Given the description of an element on the screen output the (x, y) to click on. 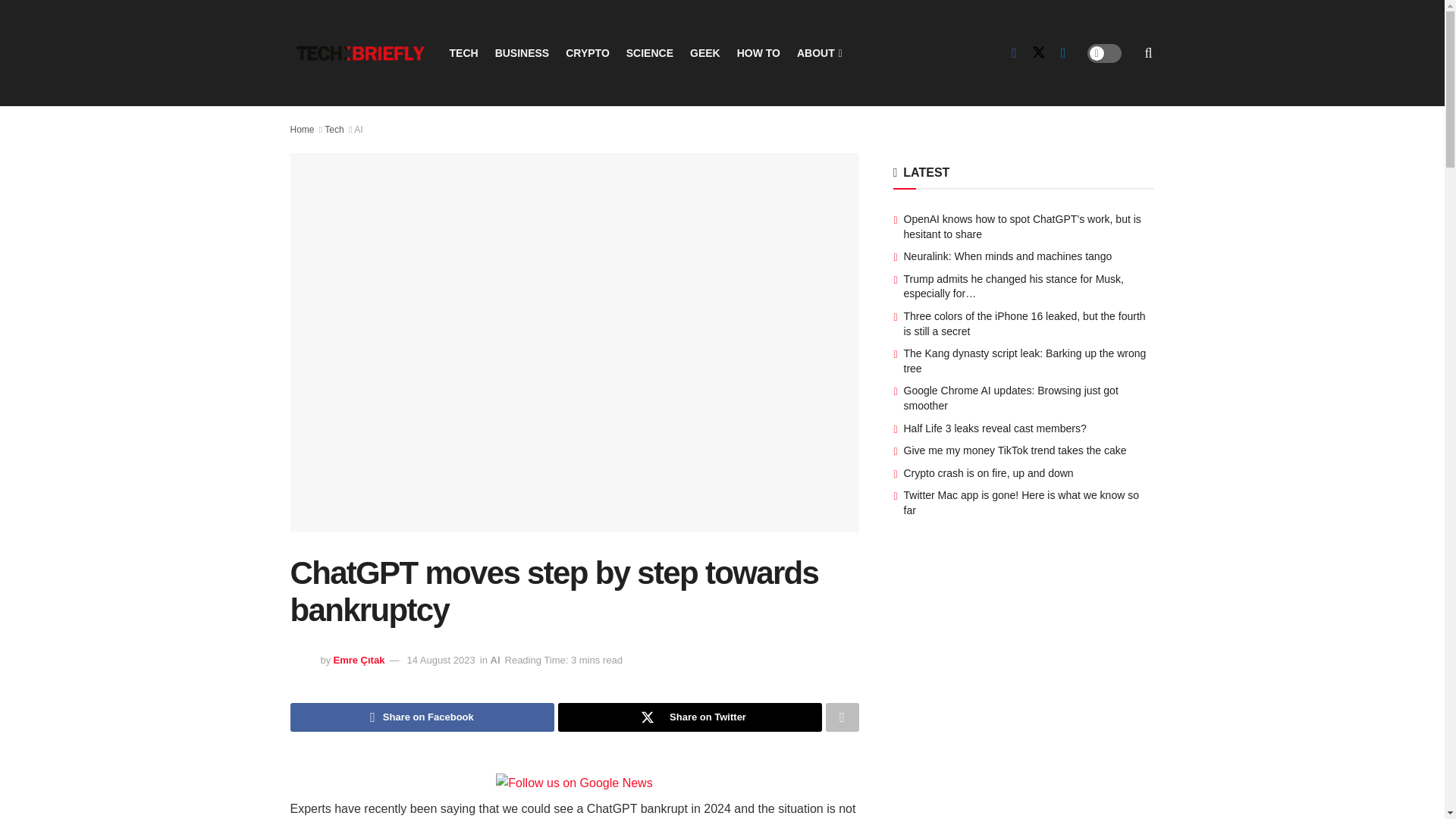
Tech (333, 129)
SCIENCE (649, 53)
CRYPTO (588, 53)
ABOUT (818, 53)
BUSINESS (522, 53)
Home (301, 129)
HOW TO (758, 53)
